Given the description of an element on the screen output the (x, y) to click on. 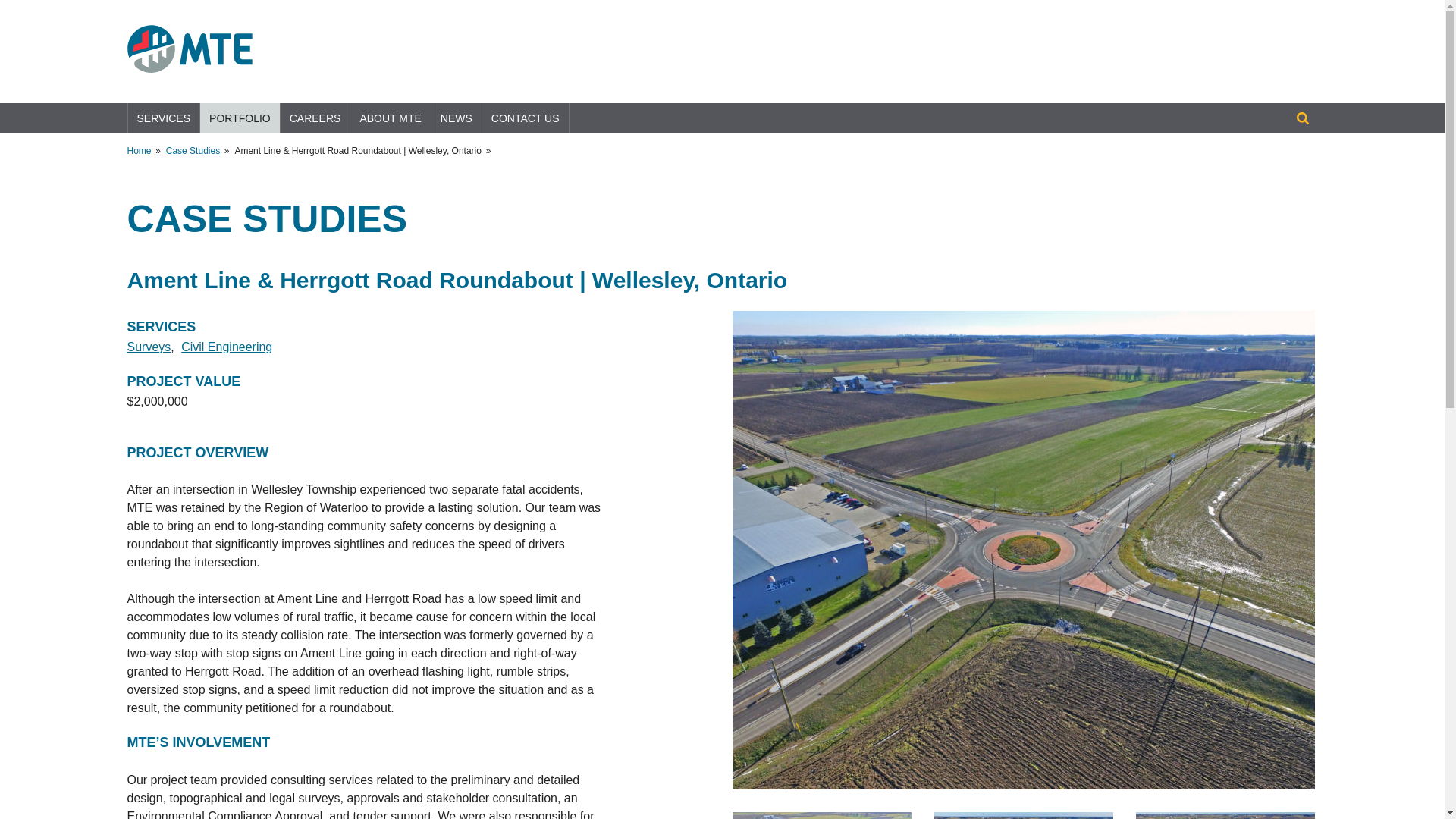
SERVICES (163, 118)
CAREERS (315, 118)
CONTACT US (525, 118)
PORTFOLIO (239, 118)
Civil Engineering (226, 346)
NEWS (455, 118)
Case Studies (192, 150)
Surveys (149, 346)
Home (139, 150)
ABOUT MTE (389, 118)
